Given the description of an element on the screen output the (x, y) to click on. 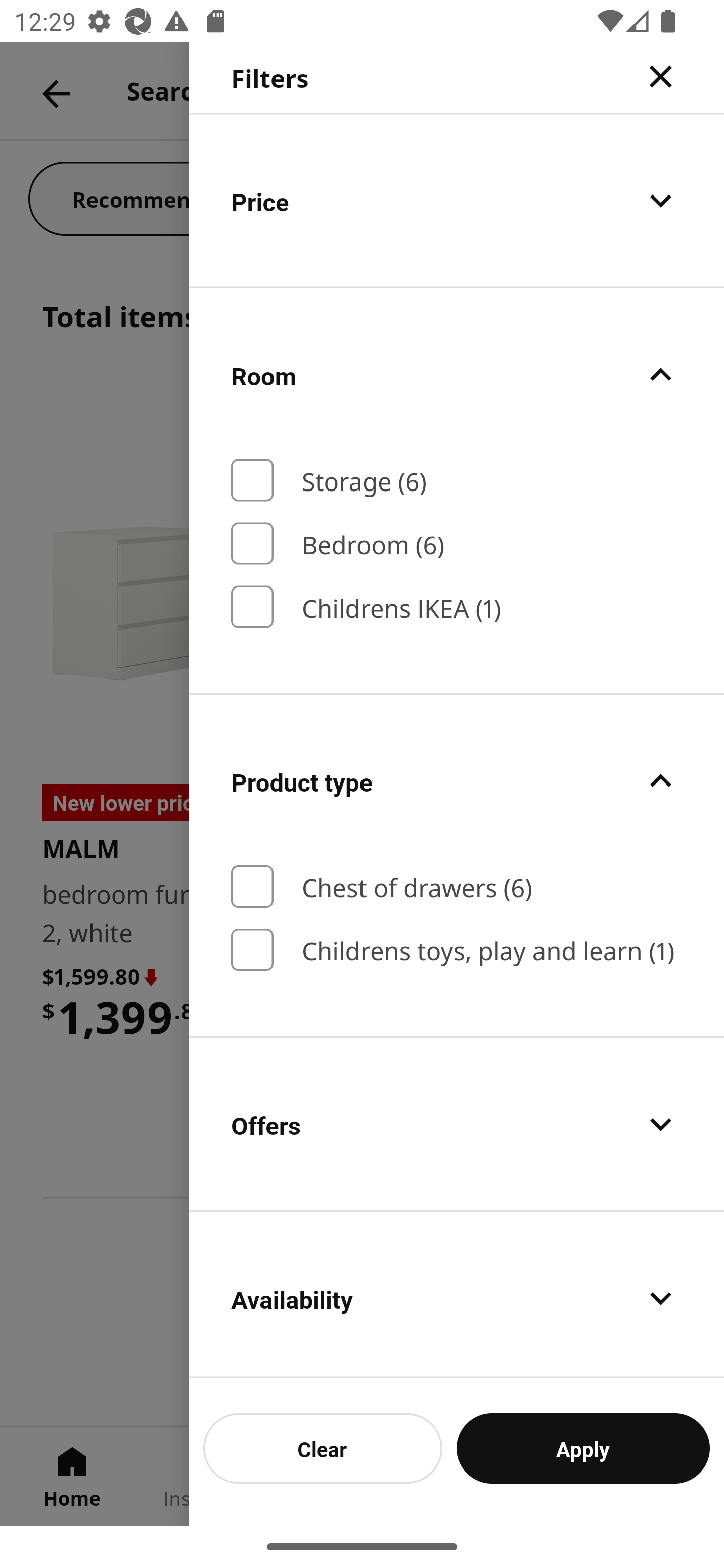
Price (456, 200)
Room (456, 374)
Storage (6) (456, 480)
Bedroom (6) (456, 543)
Childrens IKEA (1) (456, 607)
Product type (456, 780)
Chest of drawers (6) (456, 886)
Childrens toys, play and learn (1) (456, 949)
Offers (456, 1123)
Availability (456, 1294)
Clear (322, 1447)
Apply (583, 1447)
